Given the description of an element on the screen output the (x, y) to click on. 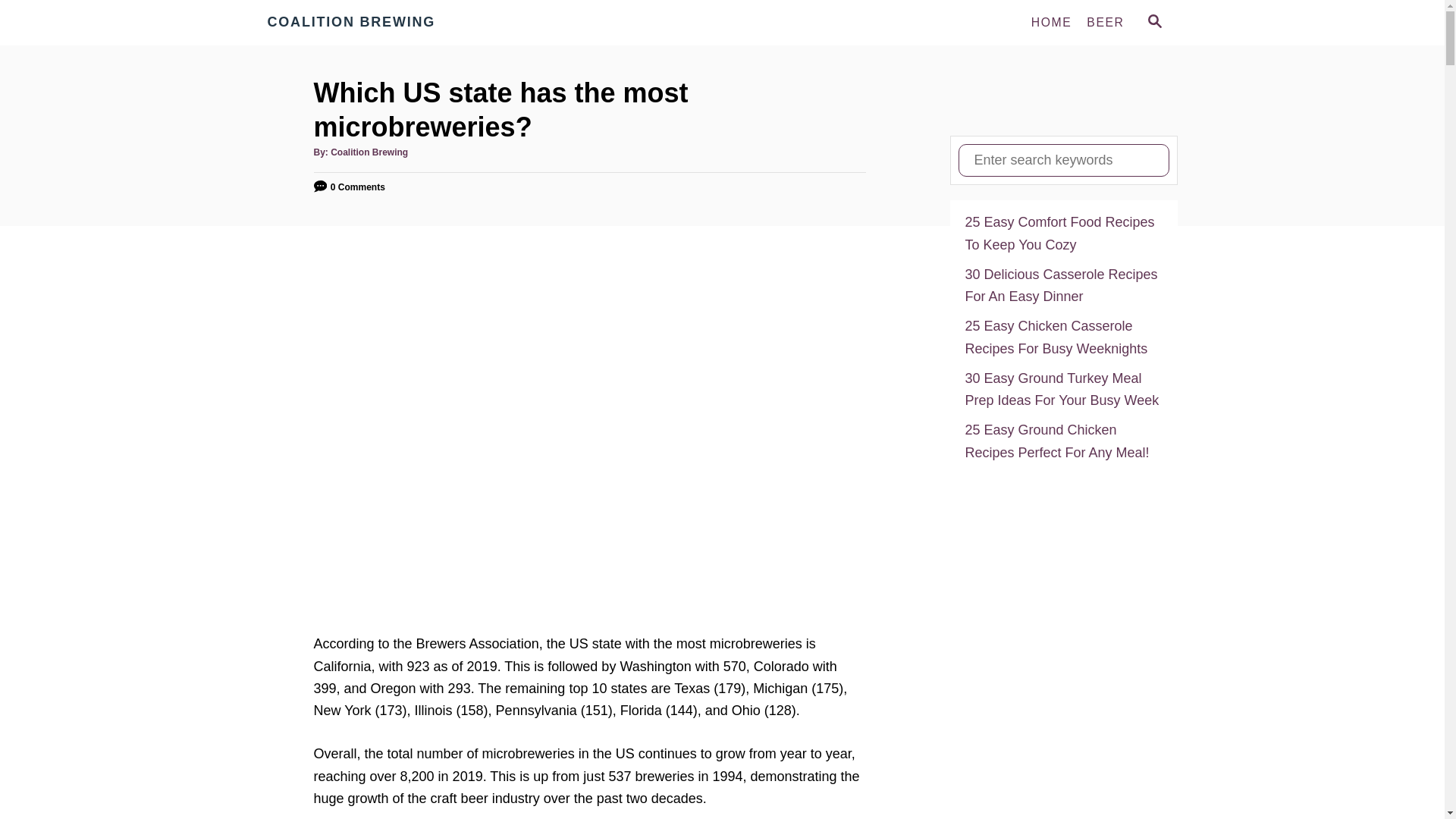
25 Easy Comfort Food Recipes To Keep You Cozy (1062, 234)
COALITION BREWING (403, 22)
SEARCH (1153, 22)
25 Easy Chicken Casserole Recipes For Busy Weeknights (1062, 337)
Coalition Brewing (403, 22)
25 Easy Ground Chicken Recipes Perfect For Any Meal! (1062, 441)
30 Easy Ground Turkey Meal Prep Ideas For Your Busy Week (1062, 389)
30 Delicious Casserole Recipes For An Easy Dinner (1062, 286)
Search (22, 22)
Coalition Brewing (368, 152)
HOME (1051, 22)
BEER (1104, 22)
